Given the description of an element on the screen output the (x, y) to click on. 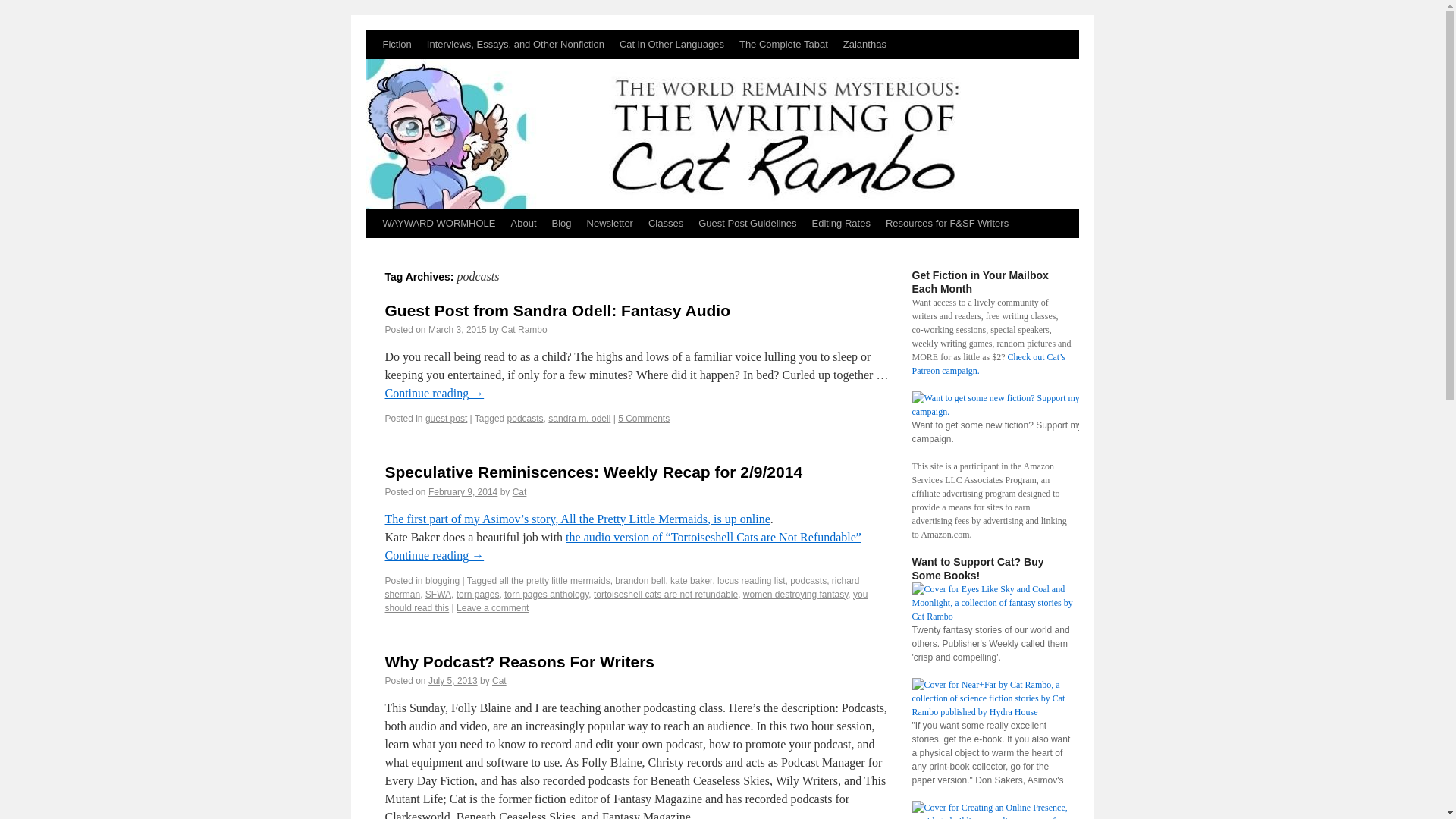
kate baker (690, 580)
Editing Rates (841, 223)
5 Comments (643, 418)
locus reading list (750, 580)
sandra m. odell (579, 418)
View all posts by Cat (519, 491)
1:22 pm (462, 491)
Cat in Other Languages (671, 44)
Guest Post Guidelines (746, 223)
The Complete Tabat (783, 44)
February 9, 2014 (462, 491)
podcasts (524, 418)
Cat (519, 491)
blogging (442, 580)
Cat Rambo (523, 329)
